Given the description of an element on the screen output the (x, y) to click on. 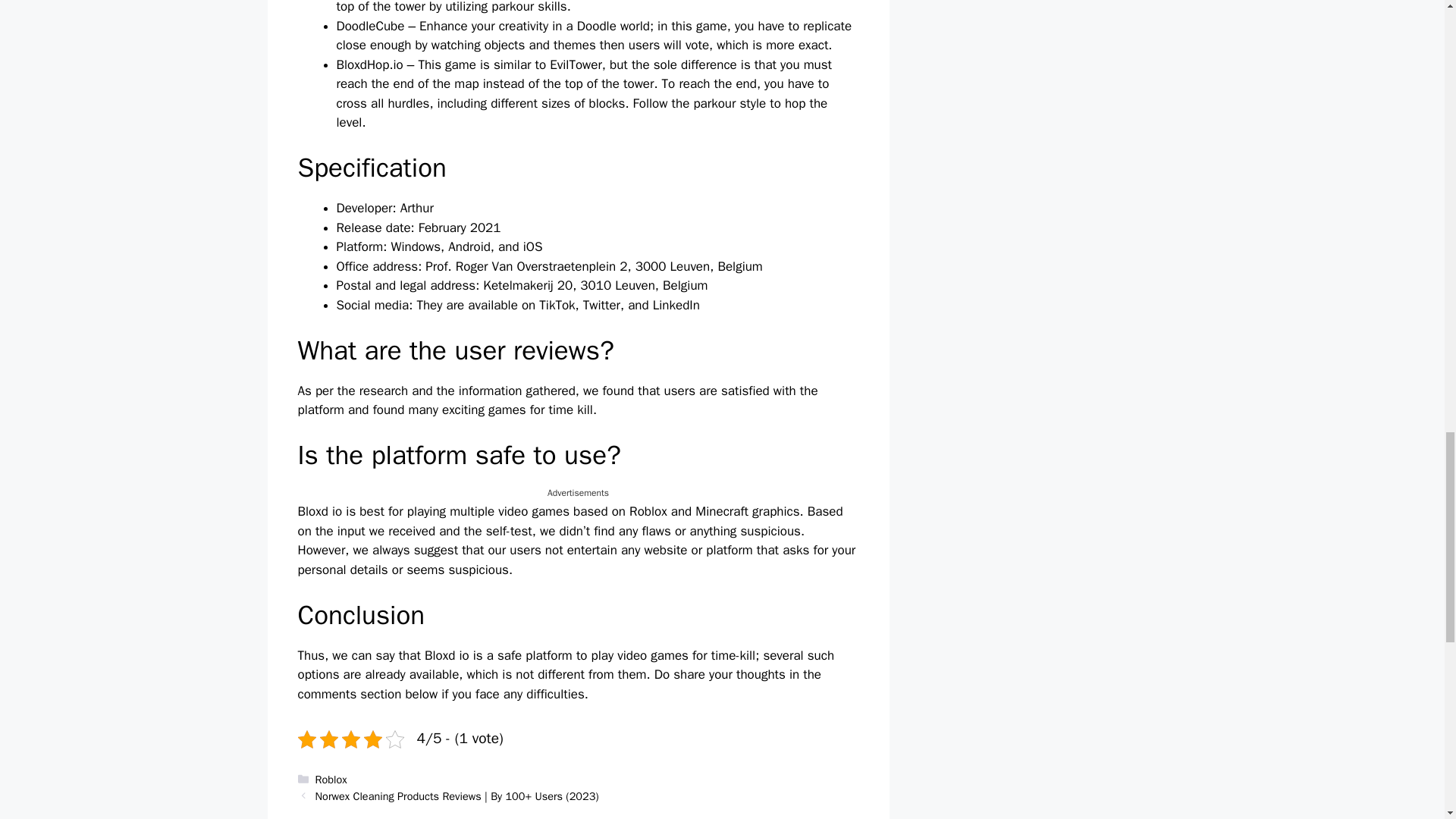
Roblox (331, 779)
